Given the description of an element on the screen output the (x, y) to click on. 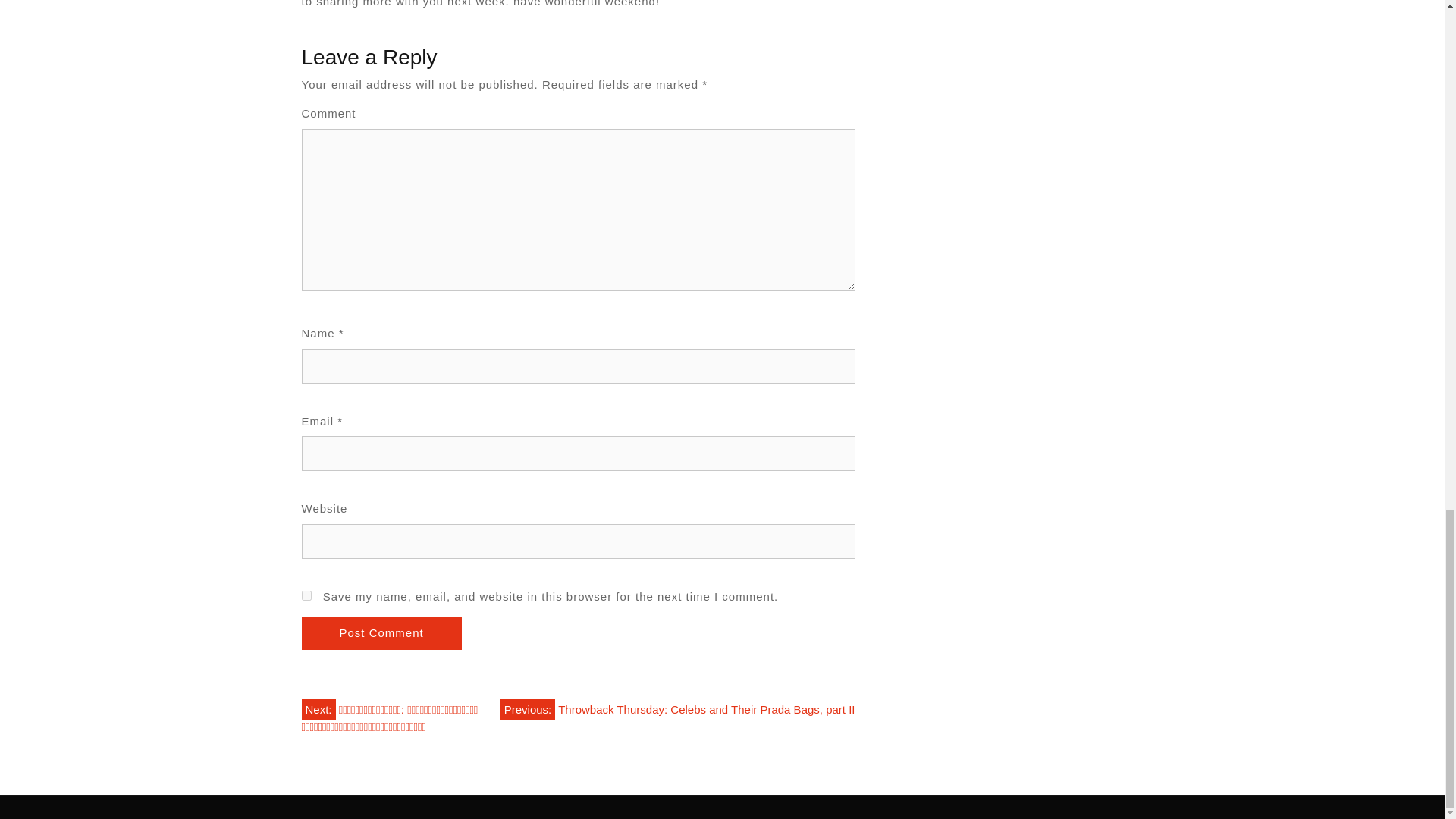
Post Comment (381, 633)
yes (306, 595)
Post Comment (381, 633)
